Given the description of an element on the screen output the (x, y) to click on. 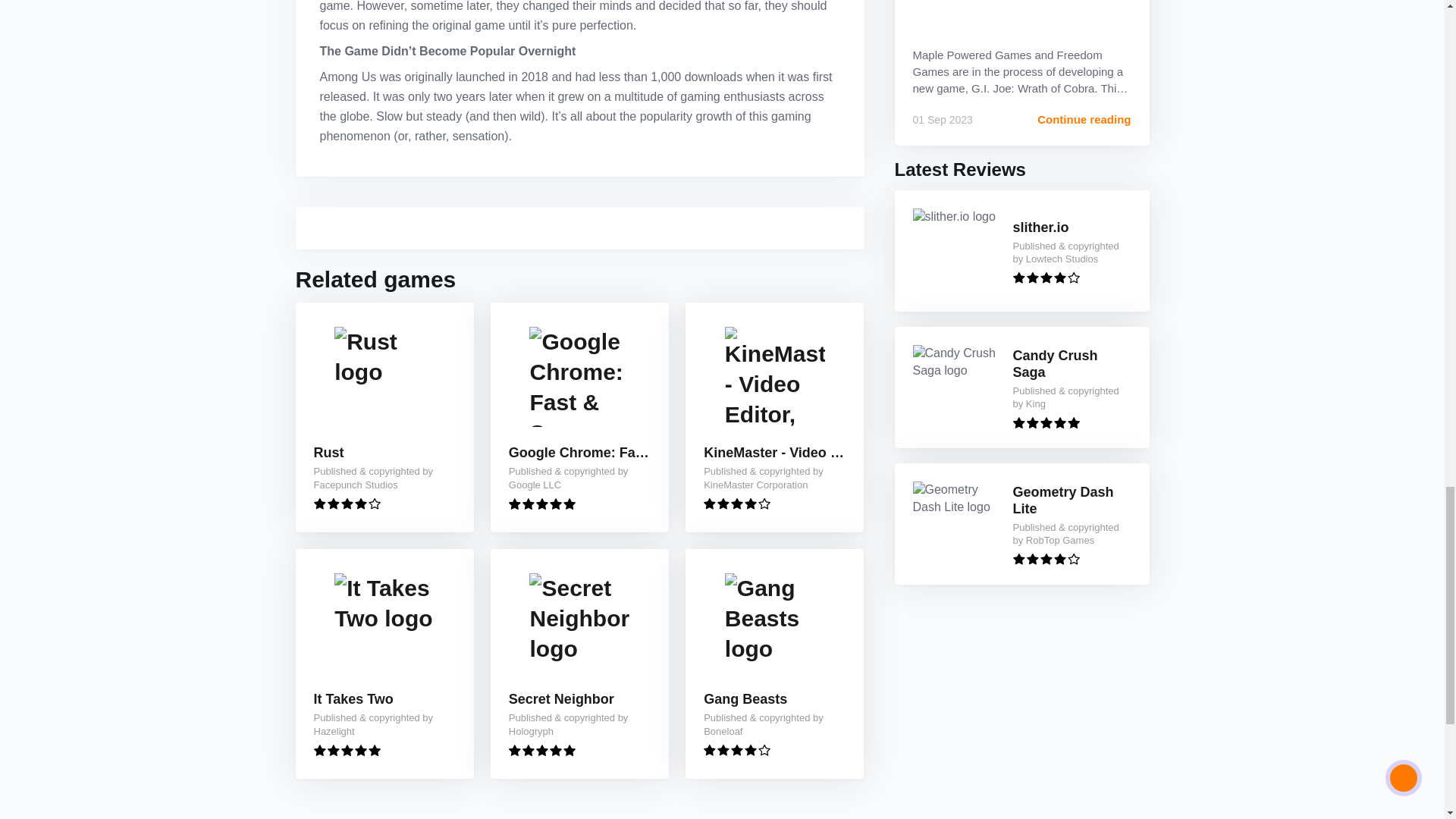
User rating 4 (736, 749)
Gang Beasts (745, 699)
User rating 4 (1046, 559)
KineMaster - Video Editor, Video Maker (774, 453)
User rating 4 (736, 503)
User rating 5 (347, 749)
Rust (328, 453)
It Takes Two (353, 699)
User rating 5 (1046, 422)
User rating 5 (541, 503)
User rating 4 (347, 503)
User rating 4 (1046, 277)
Secret Neighbor (561, 699)
User rating 5 (541, 749)
